Given the description of an element on the screen output the (x, y) to click on. 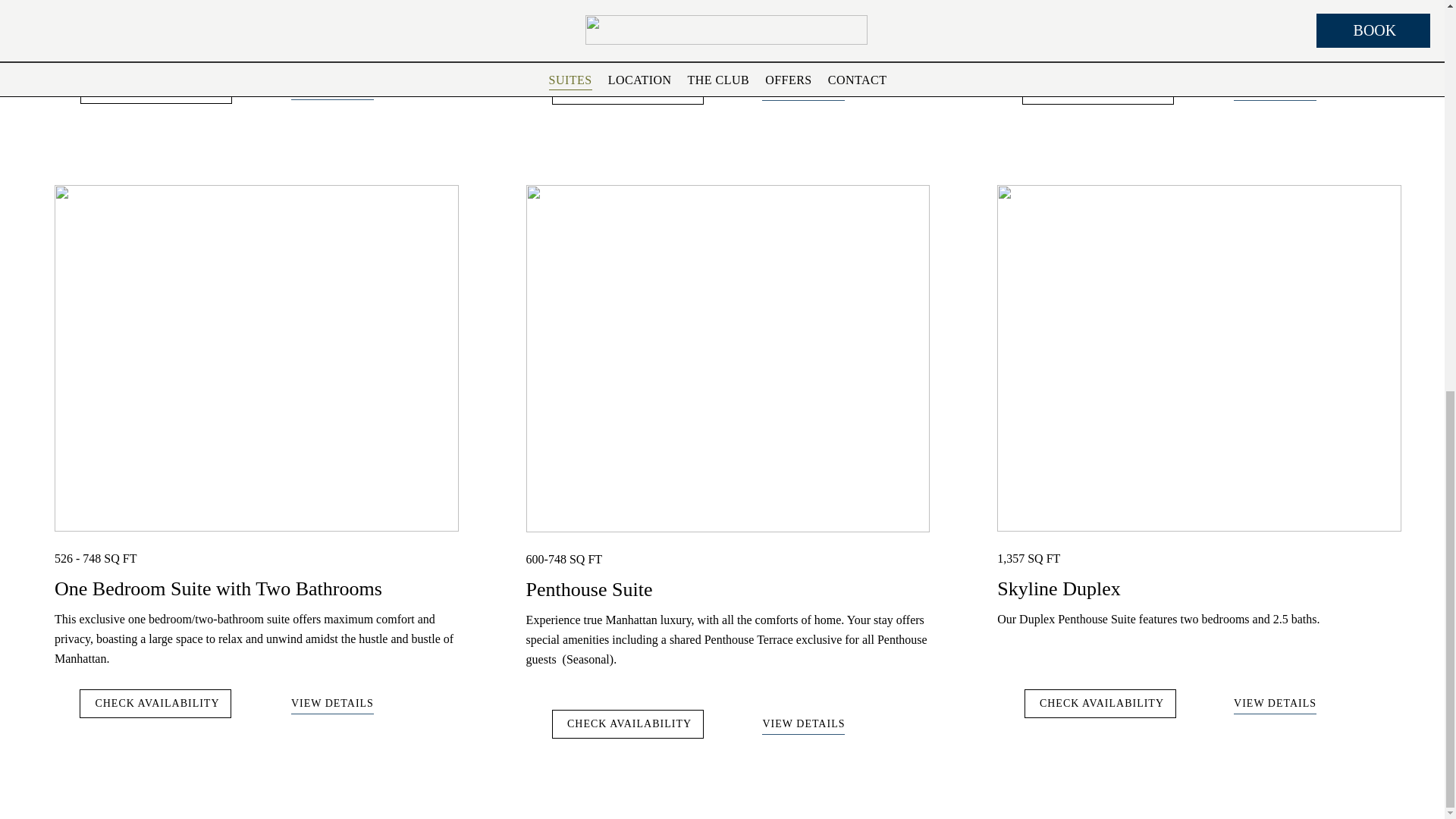
VIEW DETAILS (1274, 705)
VIEW DETAILS (332, 91)
CHECK AVAILABILITY (1097, 89)
CHECK AVAILABILITY (627, 89)
CHECK AVAILABILITY (627, 724)
CHECK AVAILABILITY (155, 703)
CHECK AVAILABILITY (155, 89)
VIEW DETAILS (332, 705)
VIEW DETAILS (802, 726)
CHECK AVAILABILITY (1100, 703)
